Given the description of an element on the screen output the (x, y) to click on. 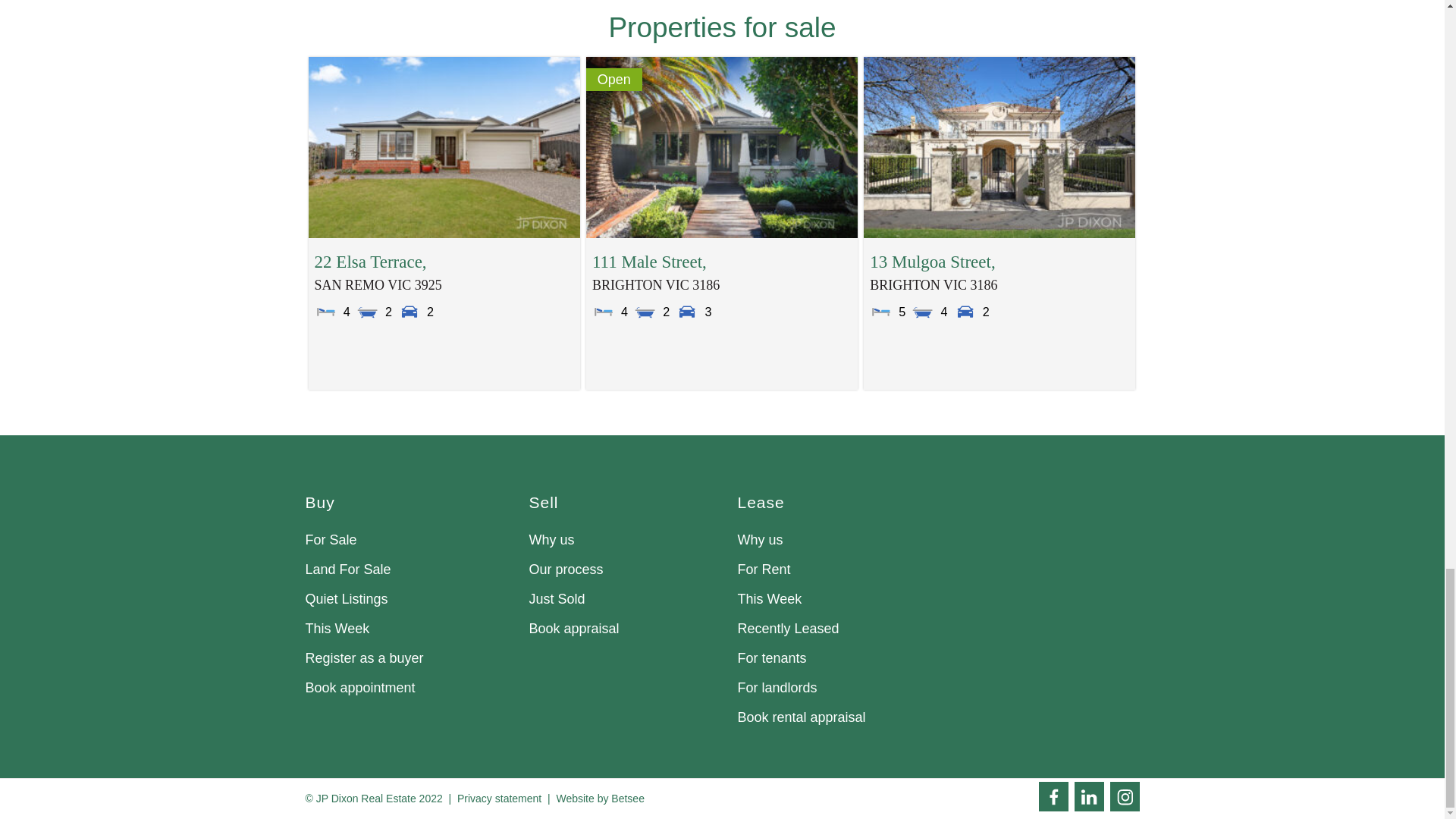
Parking Spaces (686, 311)
Bedrooms (880, 311)
Bedrooms (325, 311)
Parking Spaces (964, 311)
Bedrooms (603, 311)
Bathrooms (922, 311)
Parking Spaces (408, 311)
Bathrooms (367, 311)
Bathrooms (644, 311)
